Given the description of an element on the screen output the (x, y) to click on. 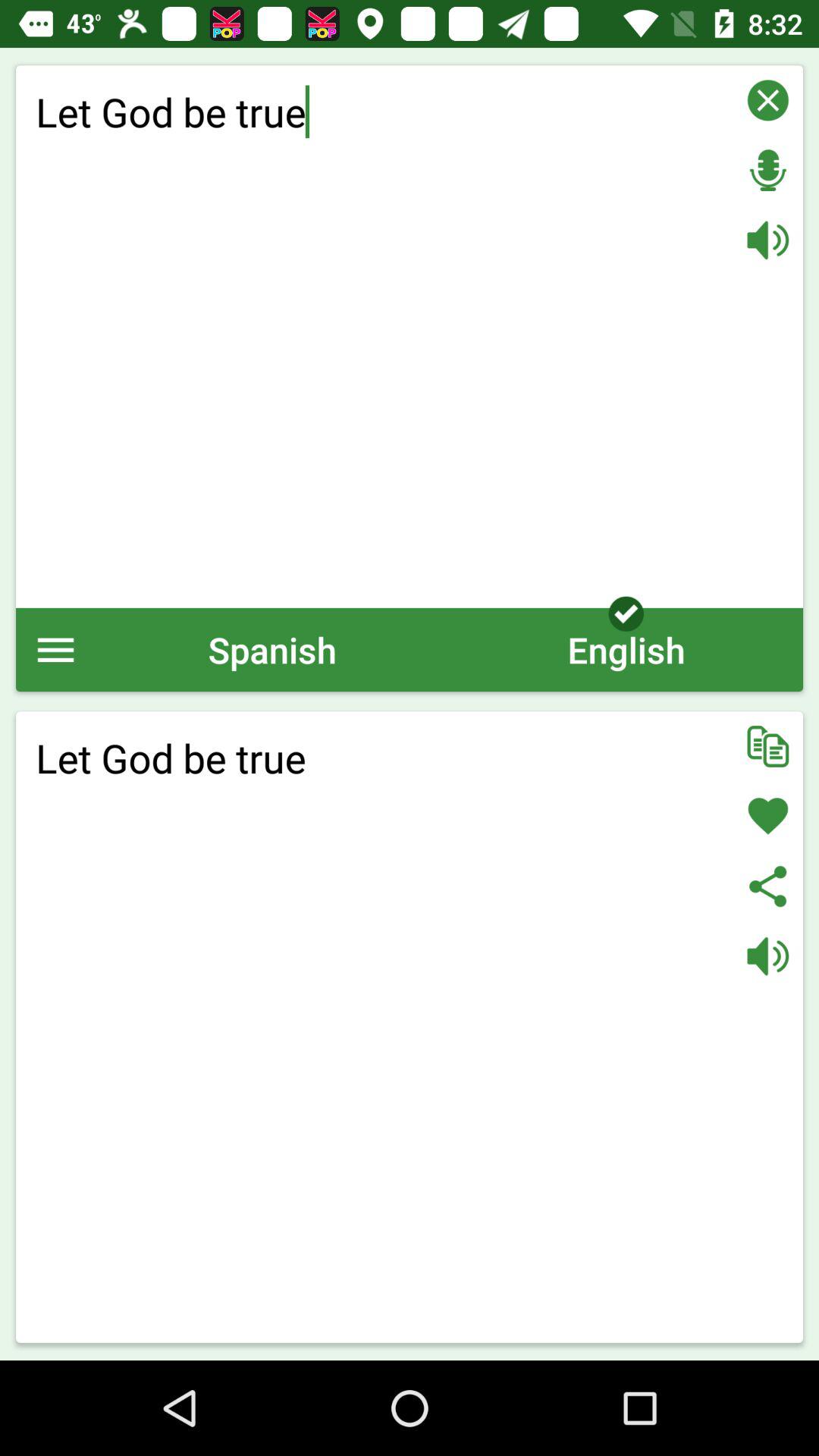
share translation (768, 886)
